Given the description of an element on the screen output the (x, y) to click on. 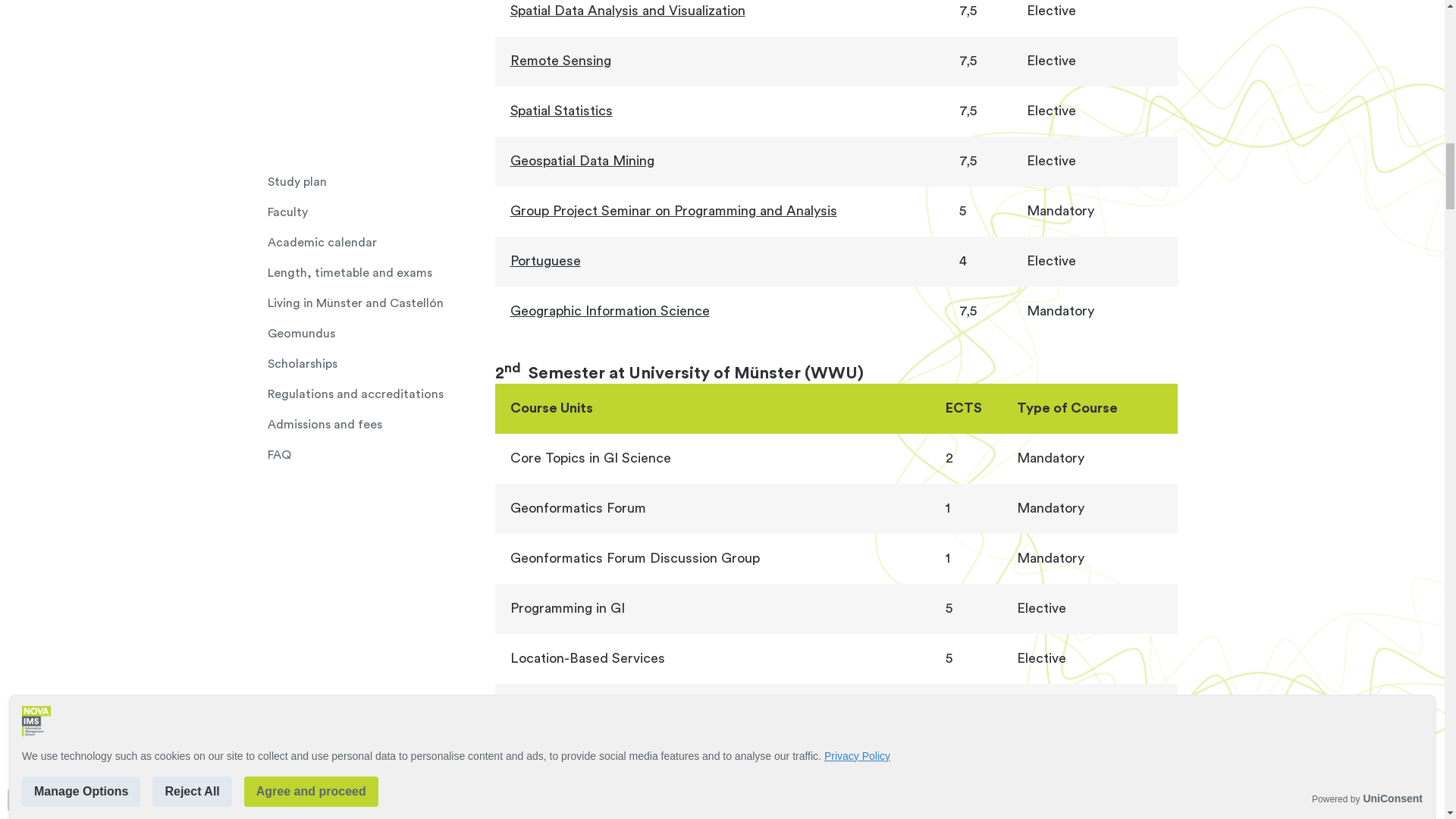
Regulations and accreditations (380, 8)
FAQ (380, 69)
Admissions and fees (380, 38)
